Given the description of an element on the screen output the (x, y) to click on. 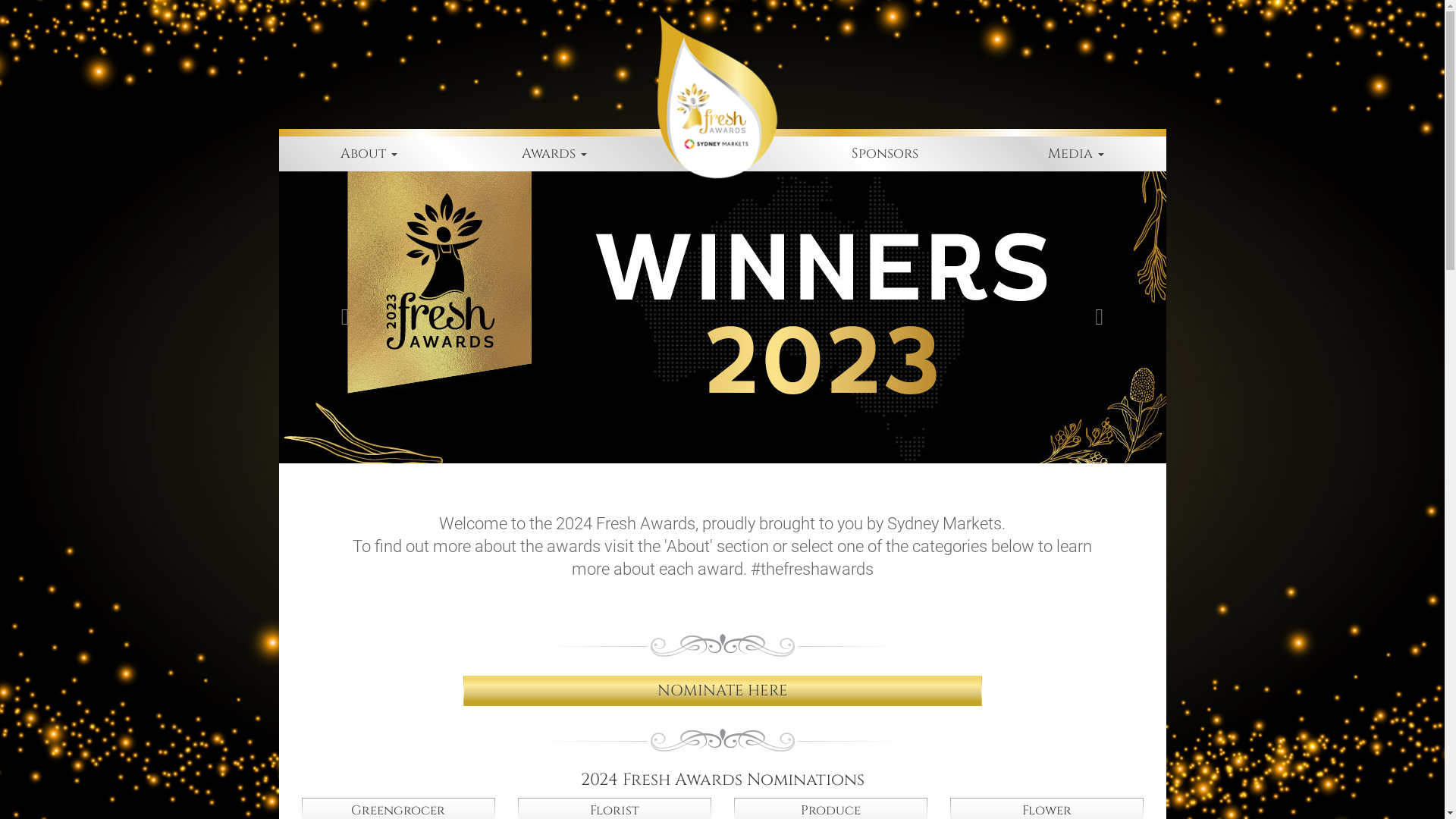
Sponsors Element type: text (884, 153)
2024 Fresh Awards Nominations Element type: text (722, 779)
NOMINATE HERE Element type: text (721, 690)
Awards Element type: text (553, 153)
Next Element type: text (1099, 317)
Previous Element type: text (345, 317)
Media Element type: text (1075, 153)
About Element type: text (369, 153)
